Given the description of an element on the screen output the (x, y) to click on. 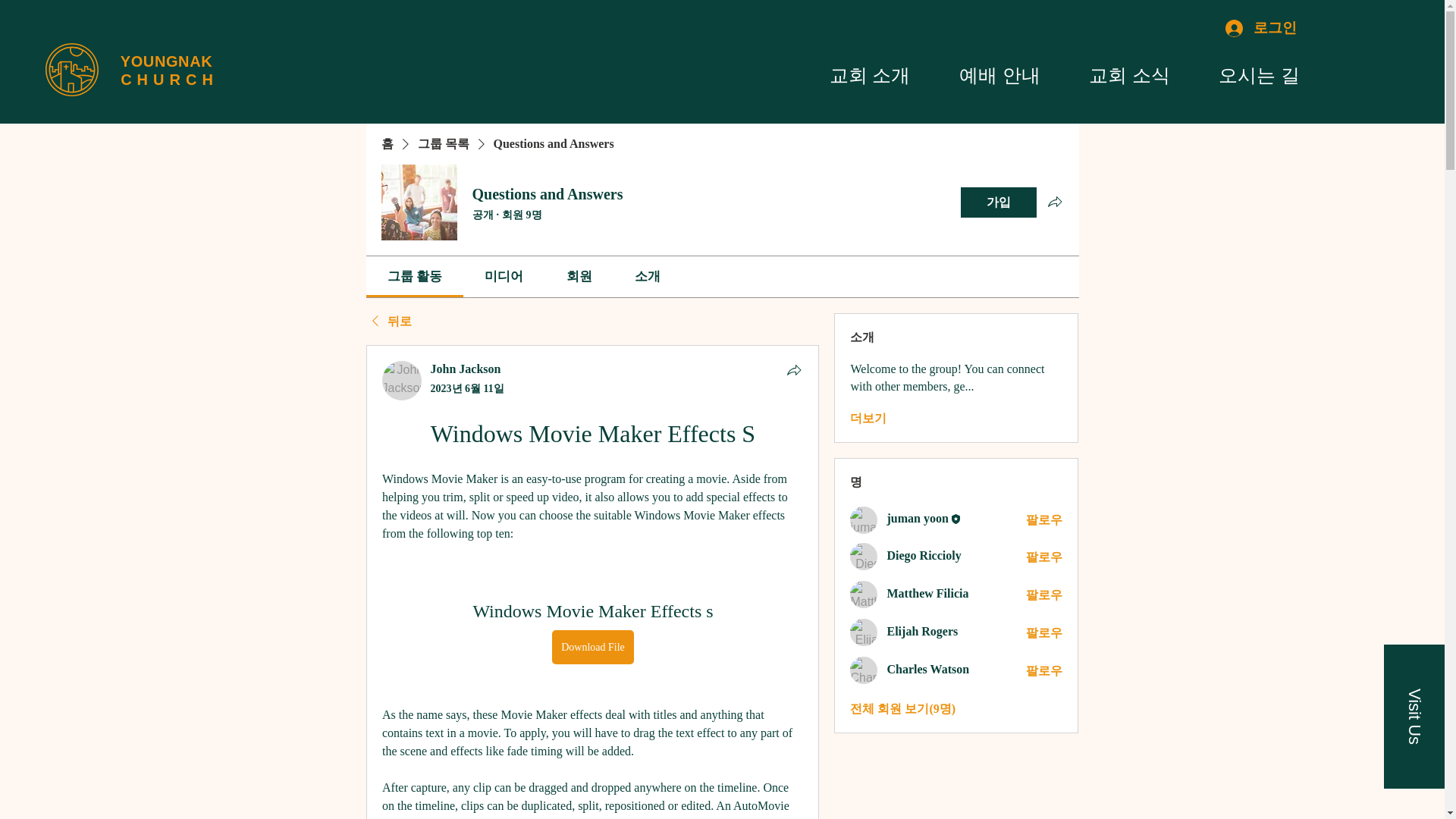
CHURCH (166, 79)
John Jackson (401, 380)
Elijah Rogers (863, 632)
juman yoon (863, 519)
Charles Watson (863, 669)
juman yoon (916, 517)
Matthew Filicia (863, 594)
Diego Riccioly (863, 556)
YOUNGNAK (166, 61)
Download File (592, 646)
